Given the description of an element on the screen output the (x, y) to click on. 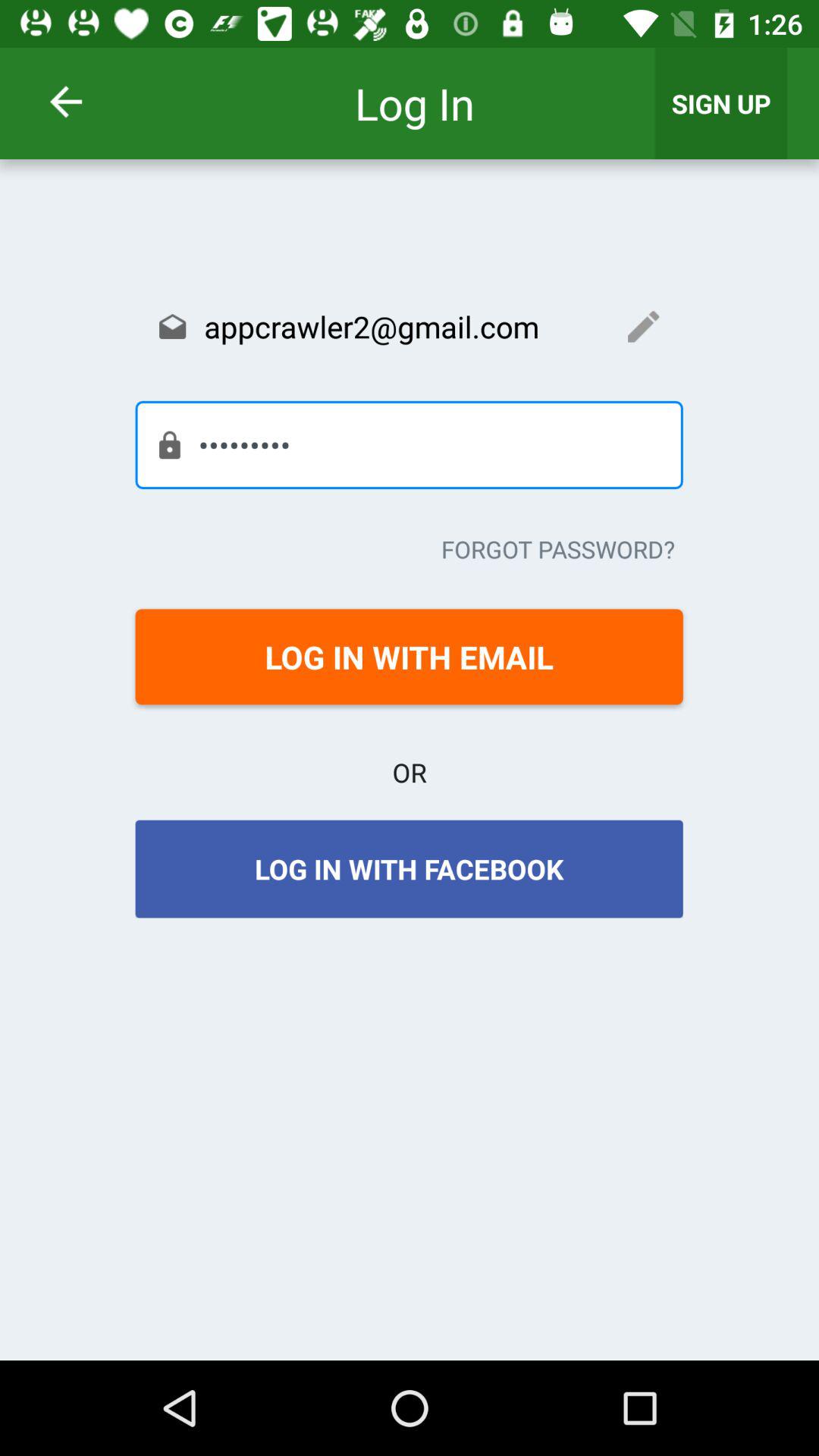
jump until the appcrawler2@gmail.com item (409, 326)
